Given the description of an element on the screen output the (x, y) to click on. 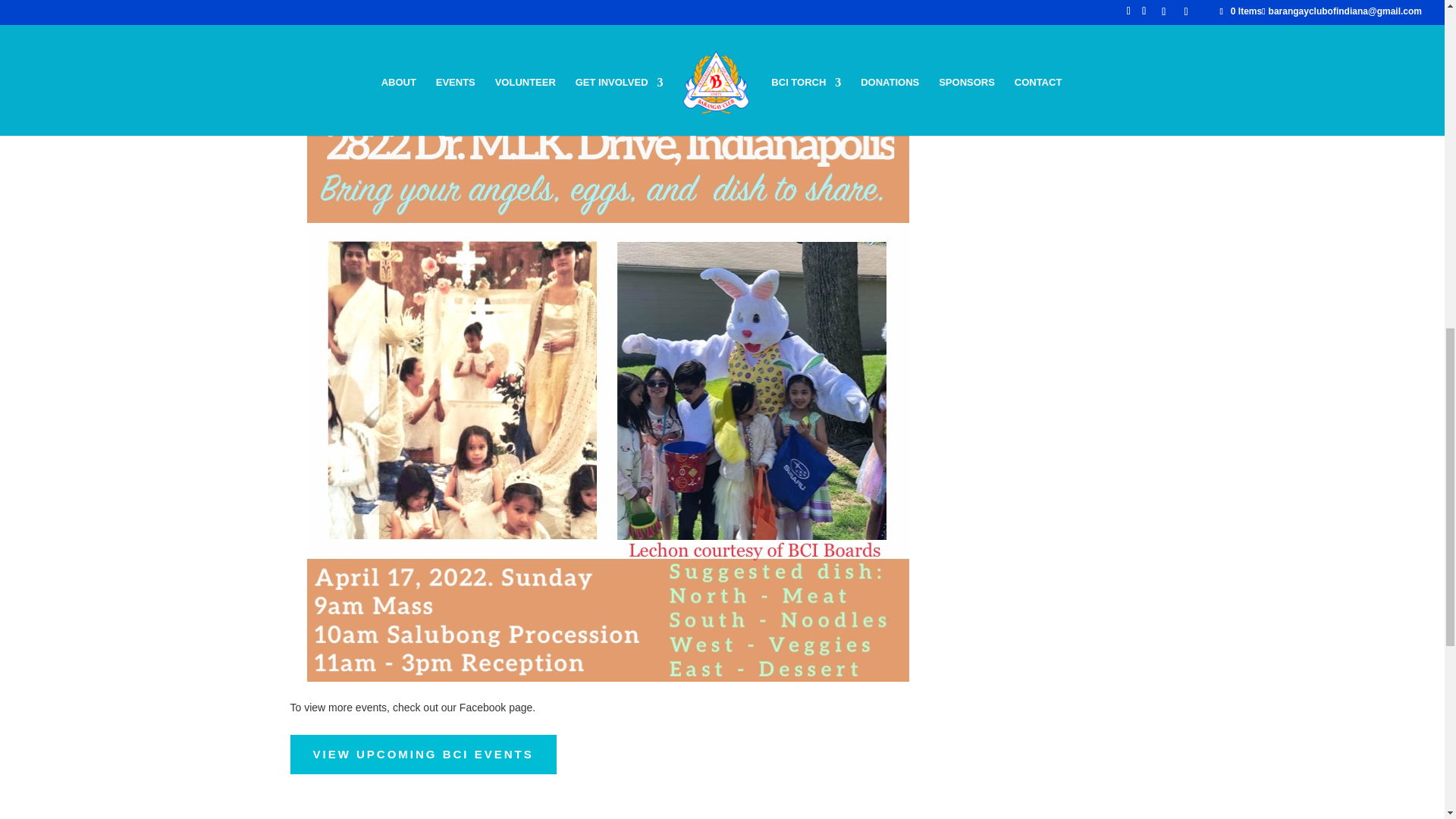
VIEW UPCOMING BCI EVENTS (422, 753)
2022 Easter Sunday Event - Salubong (607, 681)
